Given the description of an element on the screen output the (x, y) to click on. 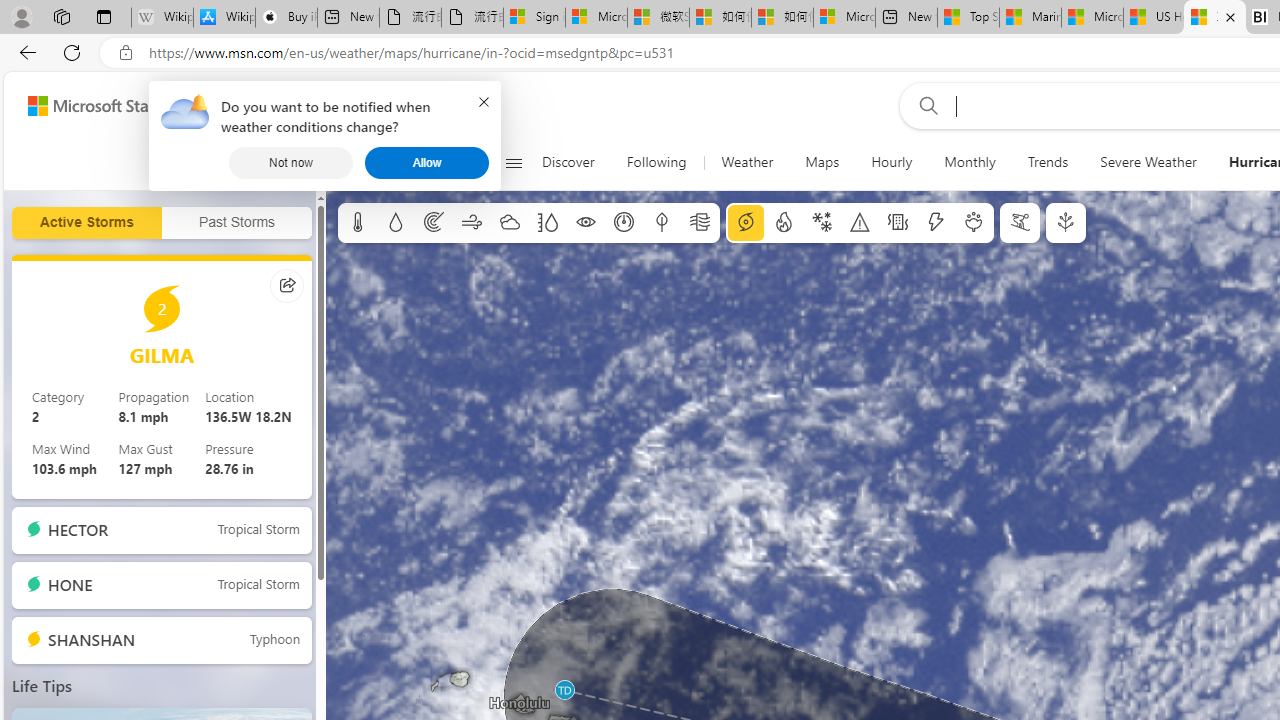
Wind (472, 223)
Dew point (661, 223)
E-tree (1066, 223)
Precipitation (395, 223)
Monthly (969, 162)
Lightning (935, 223)
Severe Weather (1148, 162)
Air quality (700, 223)
